Given the description of an element on the screen output the (x, y) to click on. 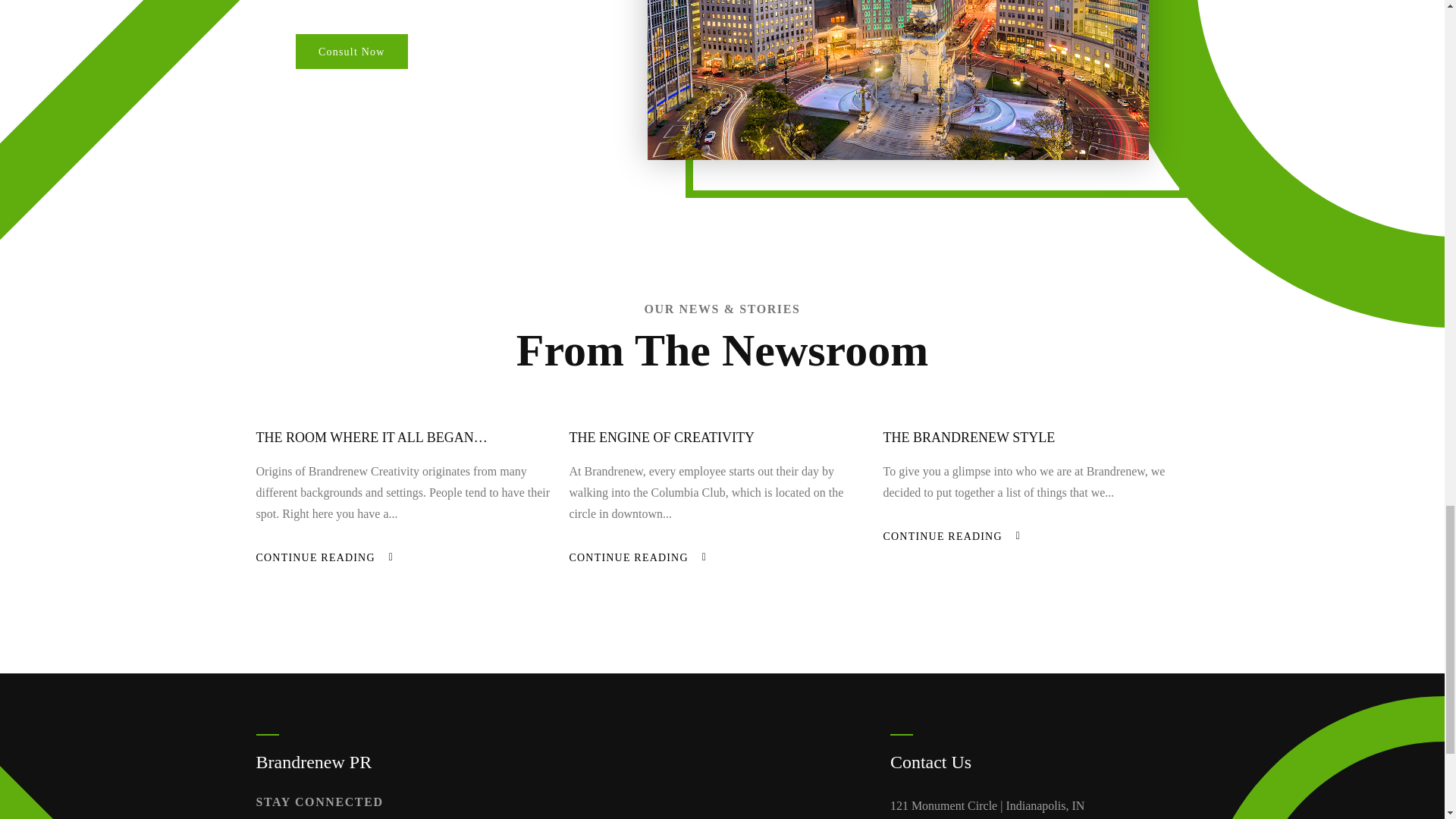
CONTINUE READING (627, 557)
CONTINUE READING (315, 557)
THE BRANDRENEW STYLE (968, 437)
THE ENGINE OF CREATIVITY (661, 437)
CONTINUE READING (941, 536)
Consult Now (351, 50)
